Given the description of an element on the screen output the (x, y) to click on. 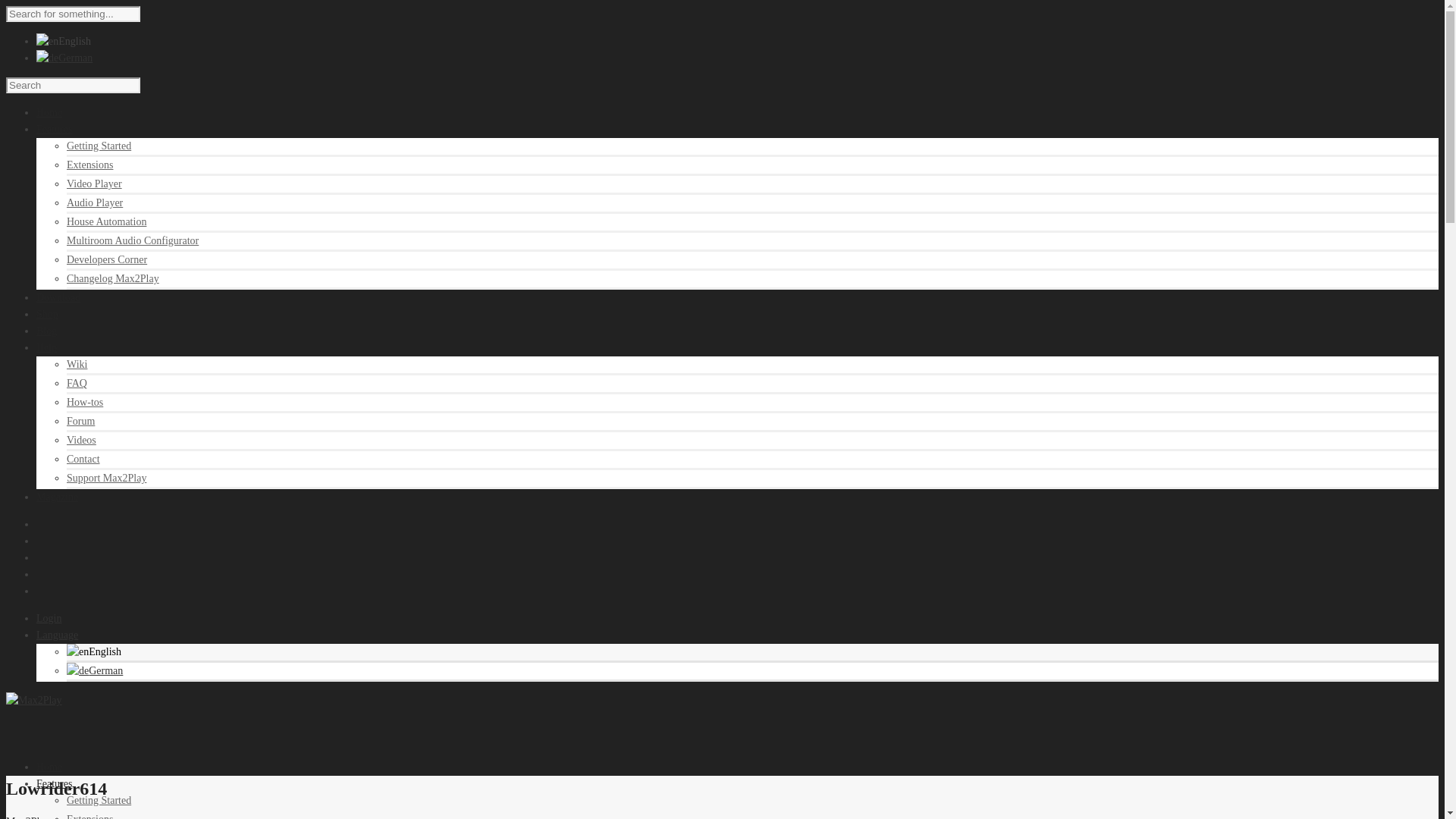
Home (49, 767)
Home (49, 112)
Forum (80, 420)
Features (53, 129)
Getting Started (98, 799)
FAQ (76, 383)
Wiki (76, 364)
Language (57, 634)
Contact (83, 459)
Support Max2Play (106, 478)
